Given the description of an element on the screen output the (x, y) to click on. 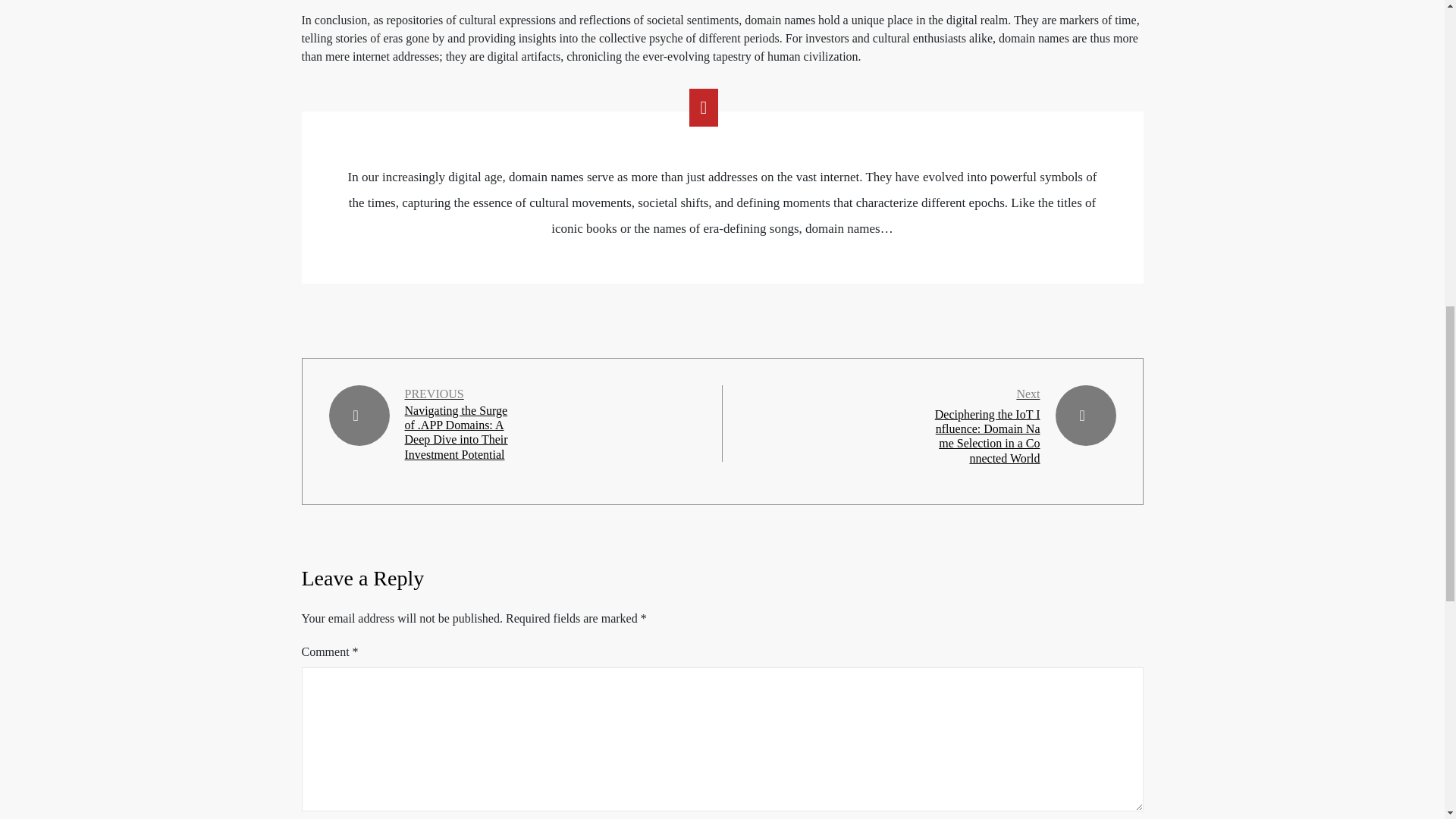
Next (1027, 393)
PREVIOUS (434, 393)
